Given the description of an element on the screen output the (x, y) to click on. 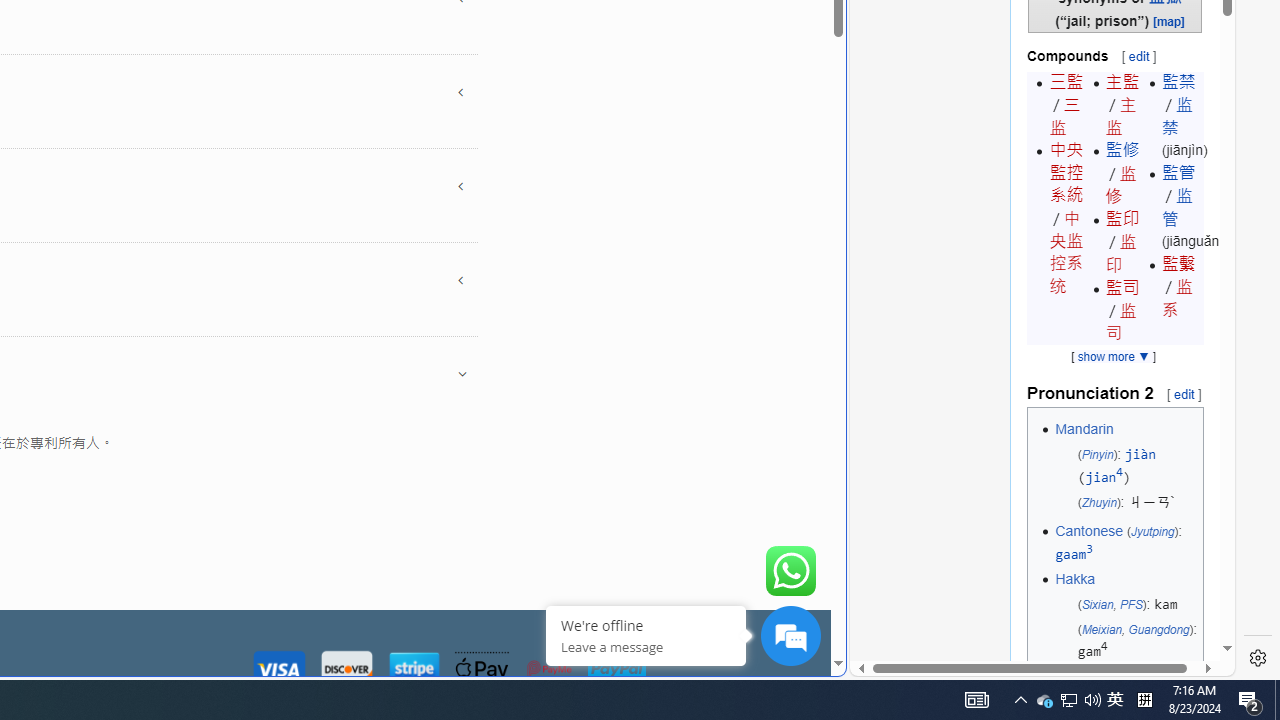
[map] (1169, 20)
Sixian (1097, 603)
Eastern Min (1092, 681)
Cantonese (1088, 531)
